Given the description of an element on the screen output the (x, y) to click on. 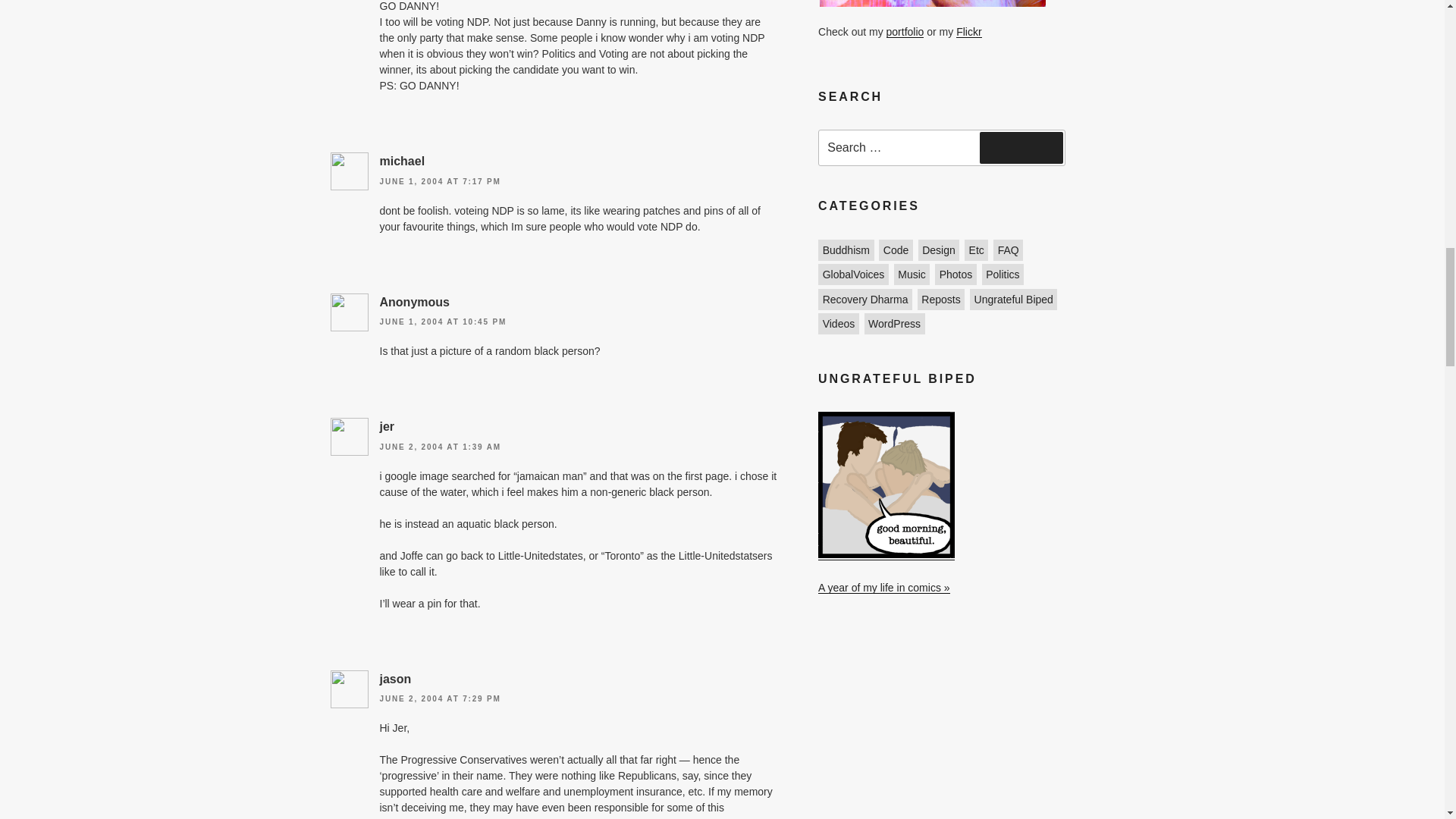
FUJI4981 (932, 3)
JUNE 1, 2004 AT 7:17 PM (439, 181)
Ungrateful Biped (884, 587)
JUNE 2, 2004 AT 7:29 PM (439, 698)
JUNE 1, 2004 AT 10:45 PM (442, 321)
JUNE 2, 2004 AT 1:39 AM (439, 447)
Ungrateful Biped (886, 553)
